Given the description of an element on the screen output the (x, y) to click on. 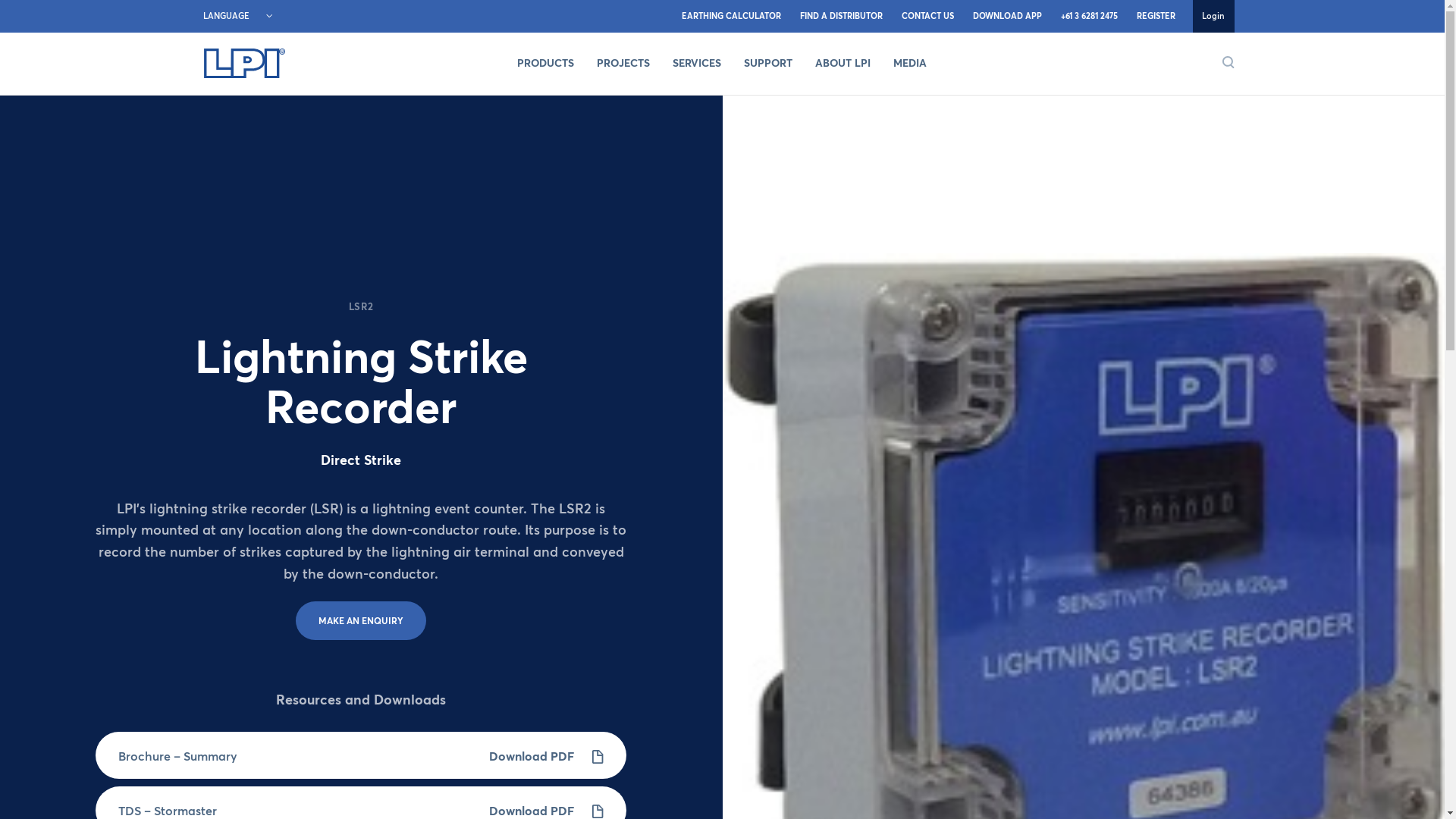
PRODUCTS Element type: text (545, 63)
SERVICES Element type: text (696, 63)
CONTACT US Element type: text (927, 16)
ABOUT LPI Element type: text (842, 63)
Login Element type: text (1212, 16)
EARTHING CALCULATOR Element type: text (730, 16)
+61 3 6281 2475 Element type: text (1088, 16)
FIND A DISTRIBUTOR Element type: text (840, 16)
PROJECTS Element type: text (623, 63)
BACK TO PRODUCTS Element type: text (83, 133)
SUPPORT Element type: text (767, 63)
MAKE AN ENQUIRY Element type: text (360, 620)
REGISTER Element type: text (1155, 16)
DOWNLOAD APP Element type: text (1007, 16)
MEDIA Element type: text (909, 63)
